Given the description of an element on the screen output the (x, y) to click on. 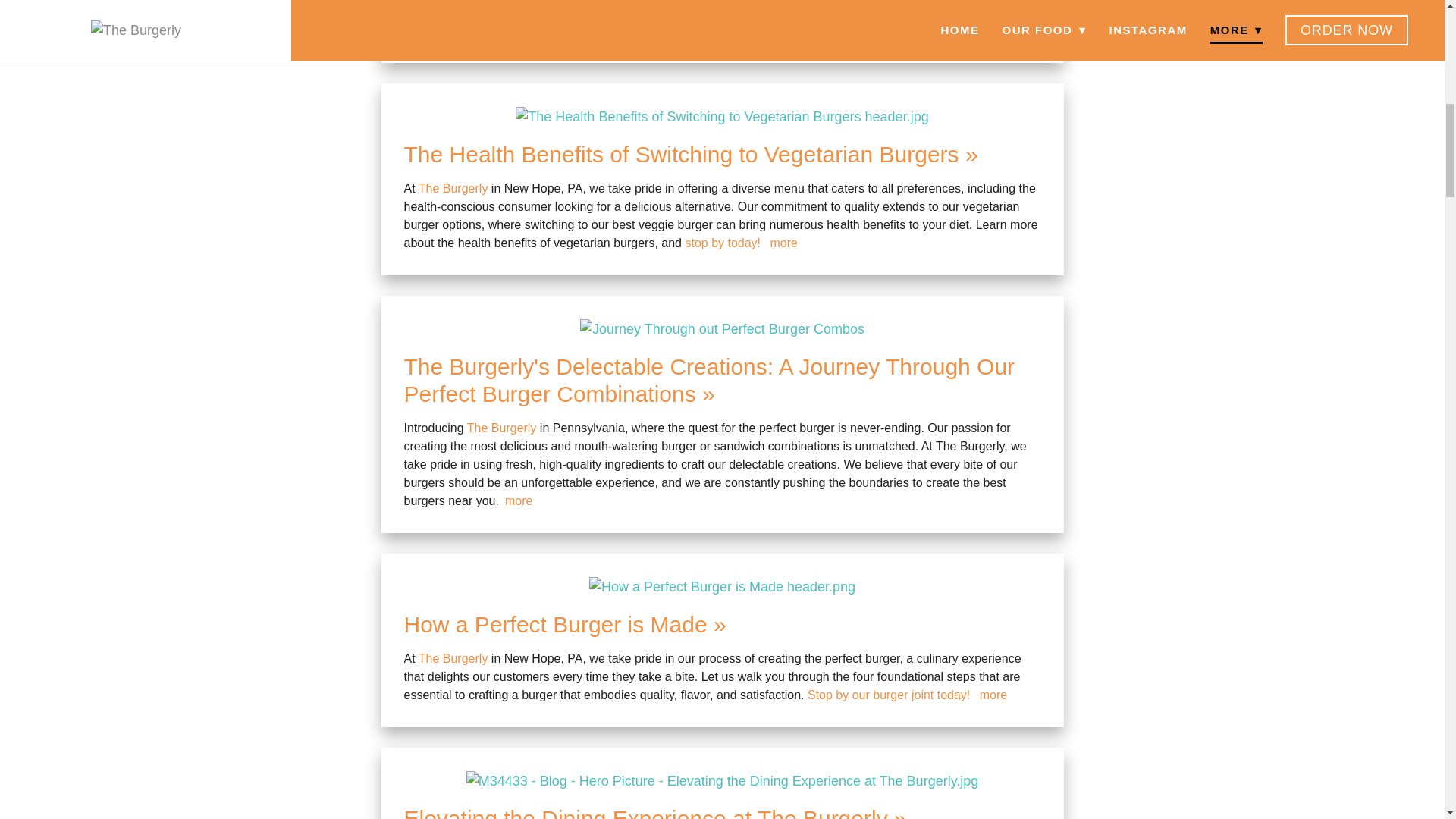
The Burgerly (453, 187)
more (889, 30)
more (993, 694)
Elevating the Dining Experience at The Burgerly (654, 812)
stop by today! (722, 242)
A tasty burger on a beautiful plate (721, 781)
Journey Through out Perfect Burger Combos (721, 329)
The Burgerly (453, 658)
How a Perfect Burger is Made (564, 624)
more (783, 242)
